Given the description of an element on the screen output the (x, y) to click on. 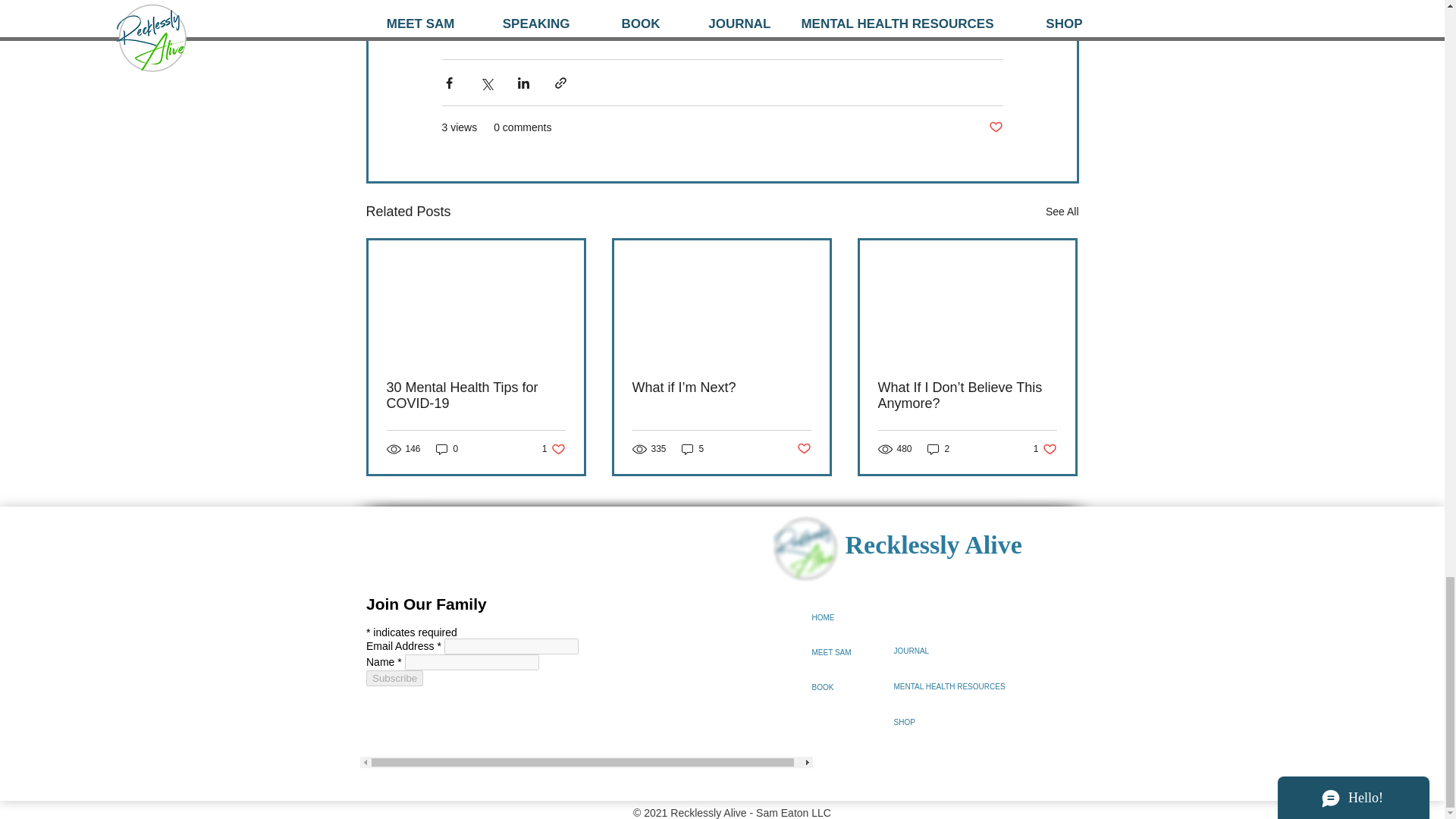
Post not marked as liked (995, 127)
30 Mental Health Tips for COVID-19 (476, 395)
MEET SAM (851, 652)
0 (446, 449)
Embedded Content (585, 678)
2 (553, 449)
5 (939, 449)
See All (692, 449)
HOME (1061, 211)
Post not marked as liked (1045, 449)
